Given the description of an element on the screen output the (x, y) to click on. 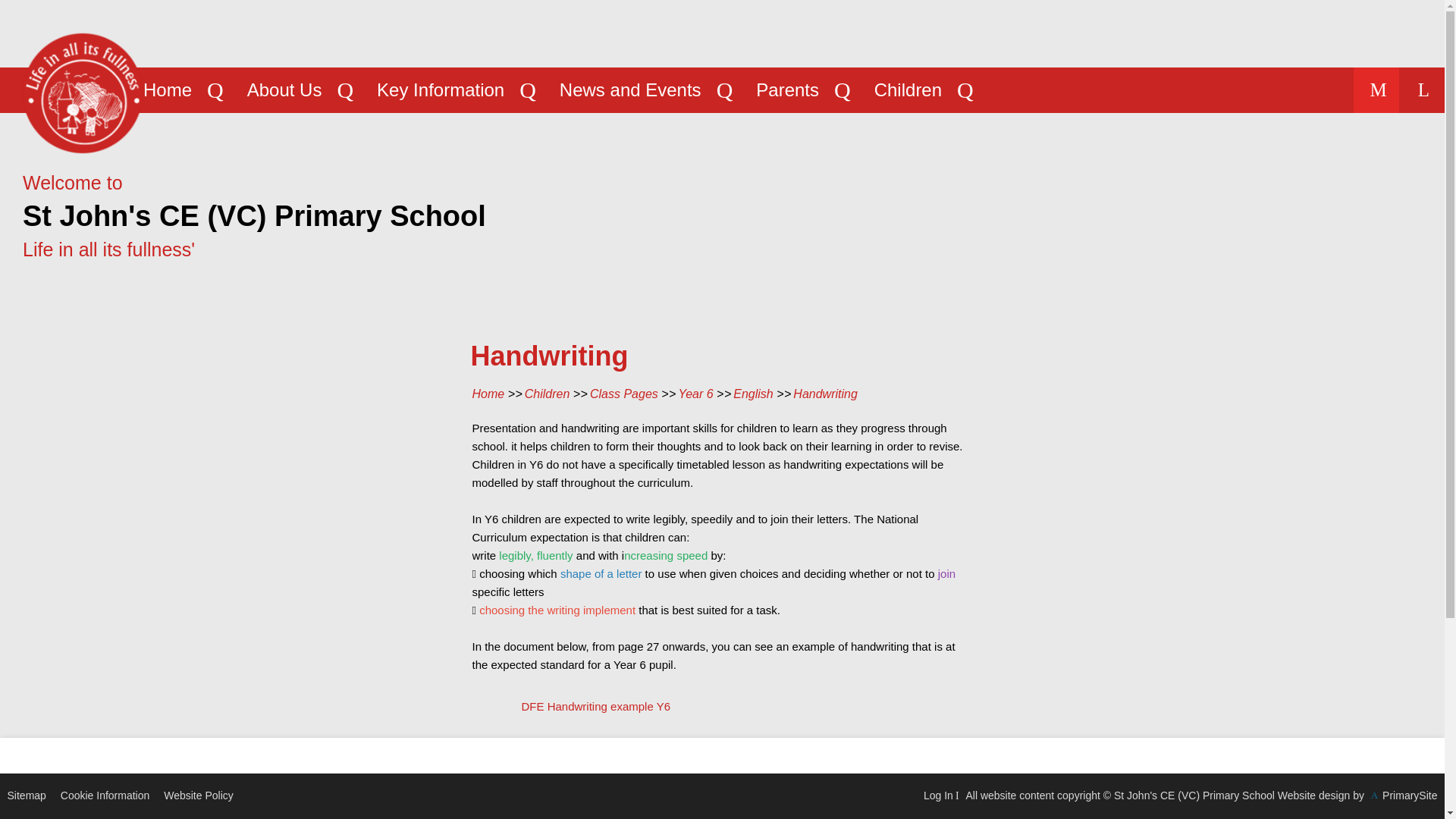
Home Page (81, 92)
About Us (284, 90)
Home (167, 90)
Key Information (440, 90)
